Given the description of an element on the screen output the (x, y) to click on. 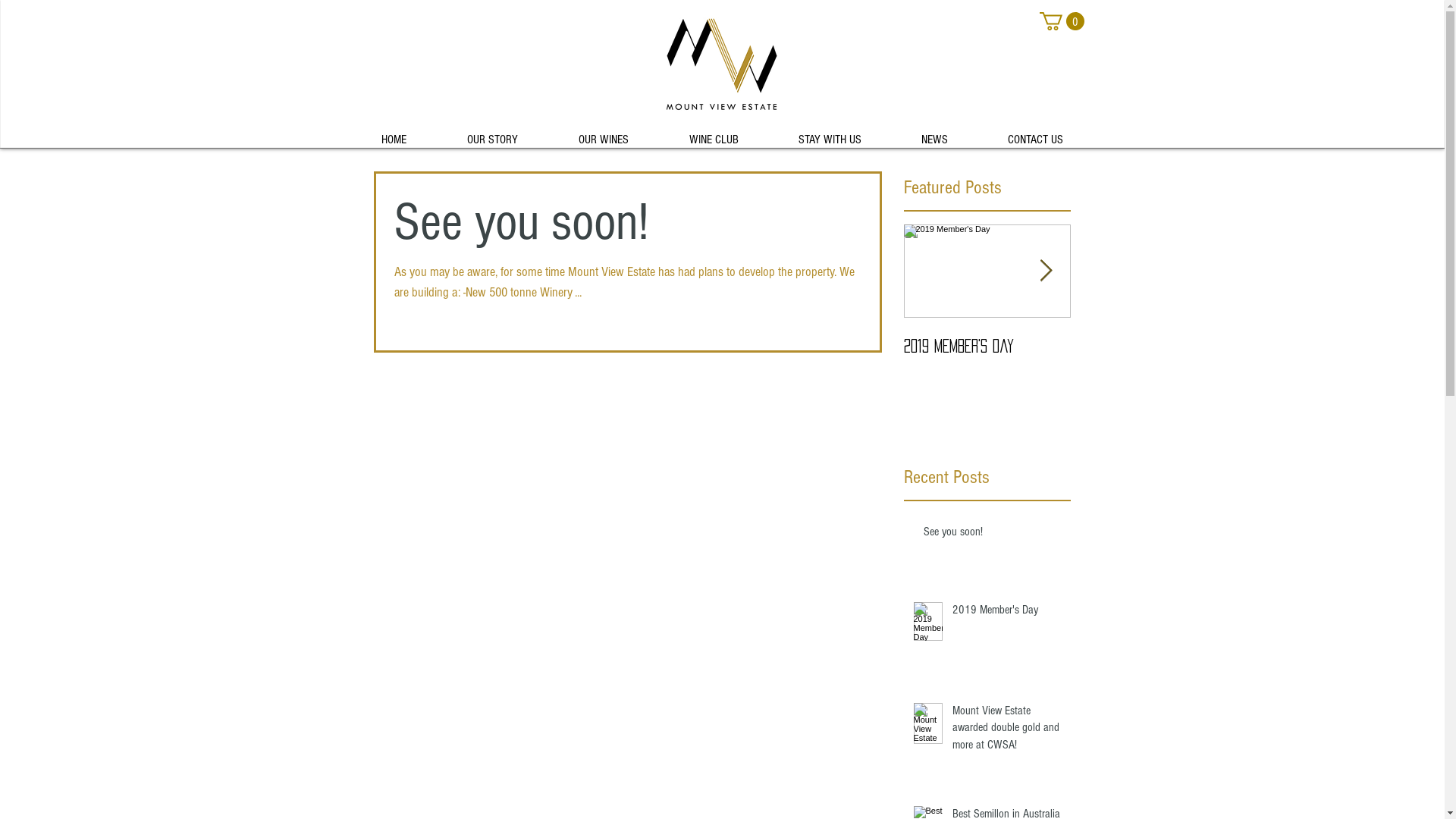
CONTACT US Element type: text (1035, 132)
HOME Element type: text (393, 132)
STAY WITH US Element type: text (829, 132)
OUR STORY Element type: text (492, 132)
OUR WINES Element type: text (602, 132)
Mount View Estate awarded double gold and more at CWSA! Element type: text (1006, 730)
2019 Member's Day Element type: text (1006, 612)
NEWS Element type: text (934, 132)
August 2018 Vineyard Update Element type: text (1153, 353)
WINE CLUB Element type: text (713, 132)
2019 Member's Day Element type: text (986, 345)
See you soon! Element type: text (992, 534)
0 Element type: text (1060, 21)
See you soon! Element type: text (627, 226)
